Given the description of an element on the screen output the (x, y) to click on. 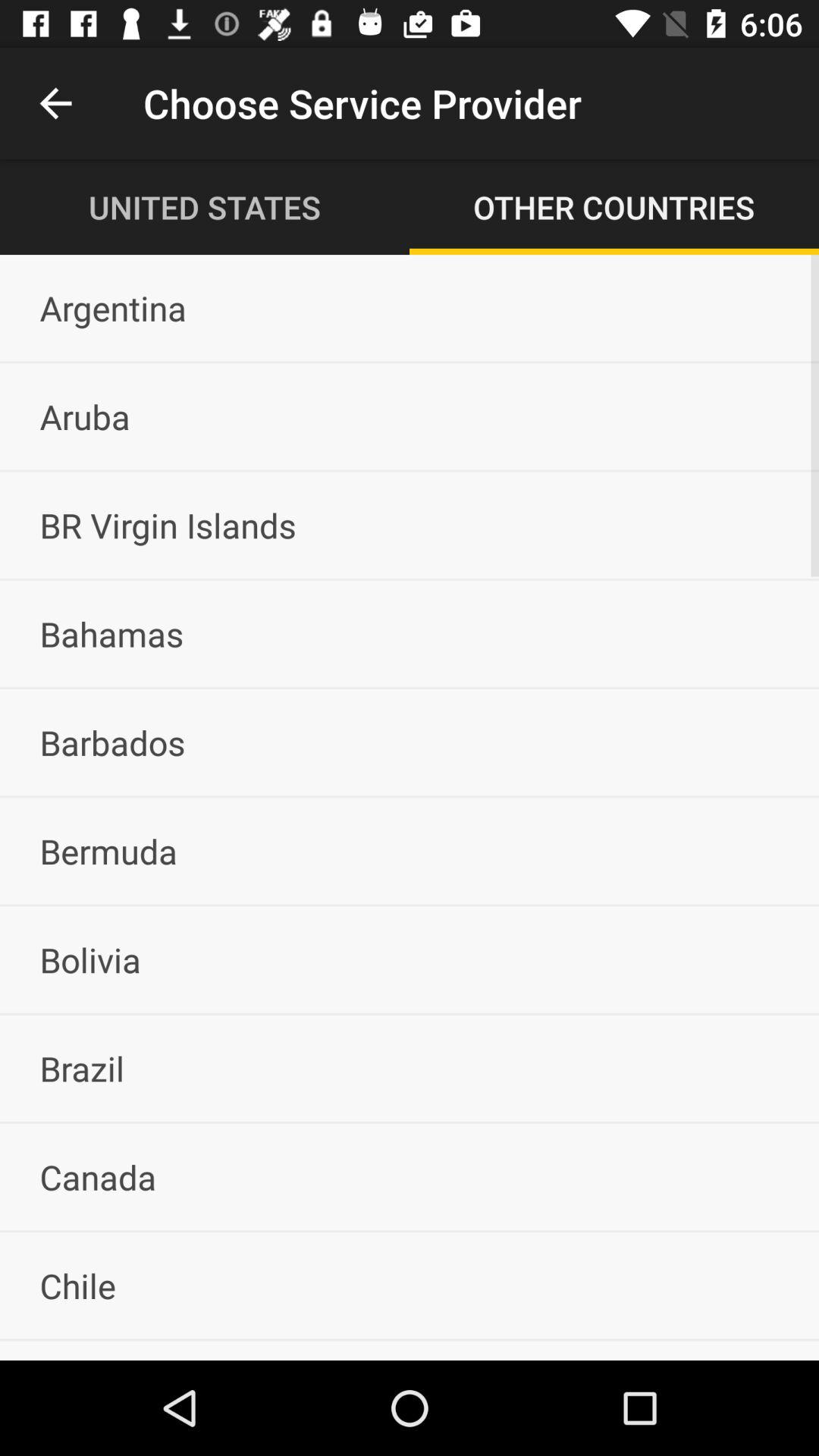
tap the aruba item (409, 416)
